Given the description of an element on the screen output the (x, y) to click on. 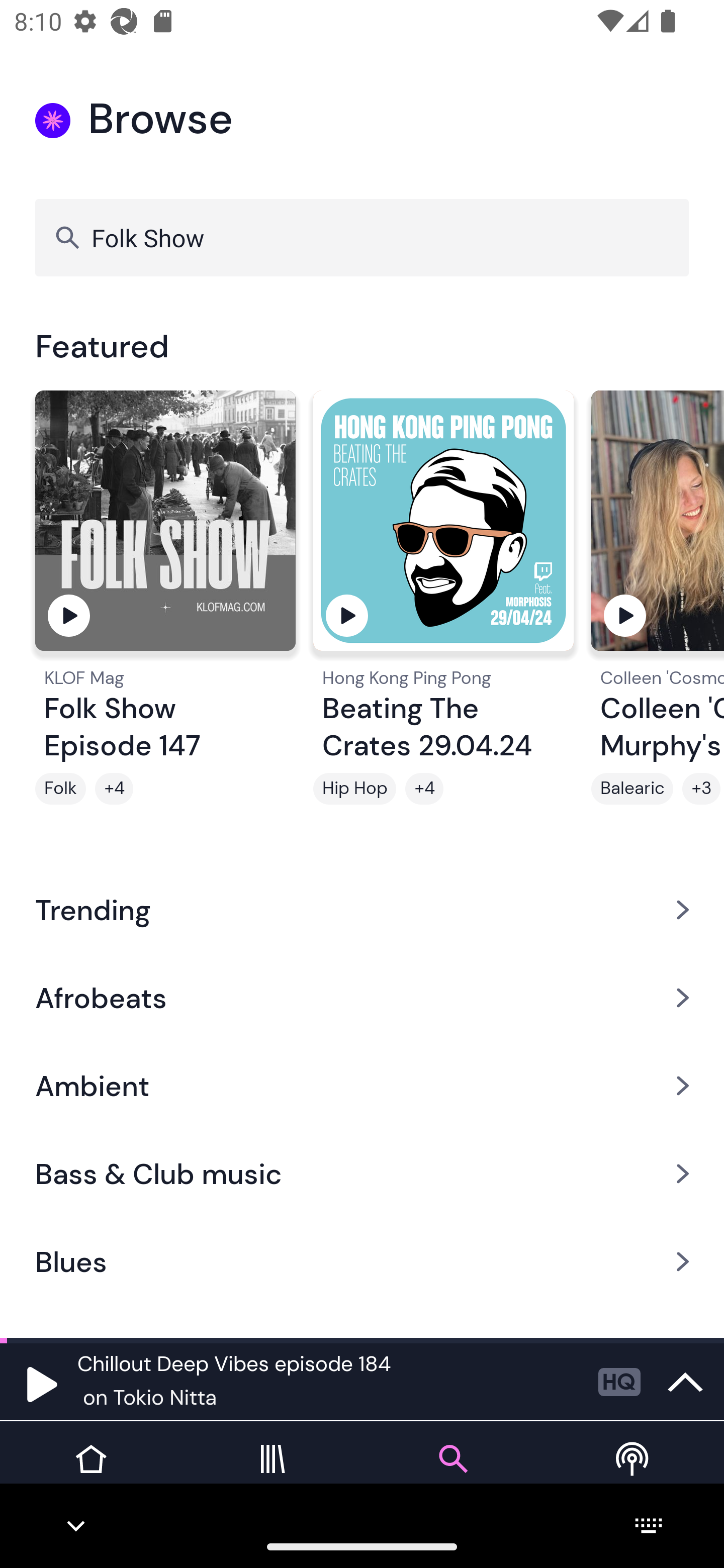
Folk Show (361, 237)
Folk (60, 788)
Hip Hop (354, 788)
Balearic (632, 788)
Trending (361, 909)
Afrobeats (361, 997)
Ambient (361, 1085)
Bass & Club music (361, 1174)
Blues (361, 1262)
Home tab (90, 1473)
Library tab (271, 1473)
Browse tab (452, 1473)
Live tab (633, 1473)
